Given the description of an element on the screen output the (x, y) to click on. 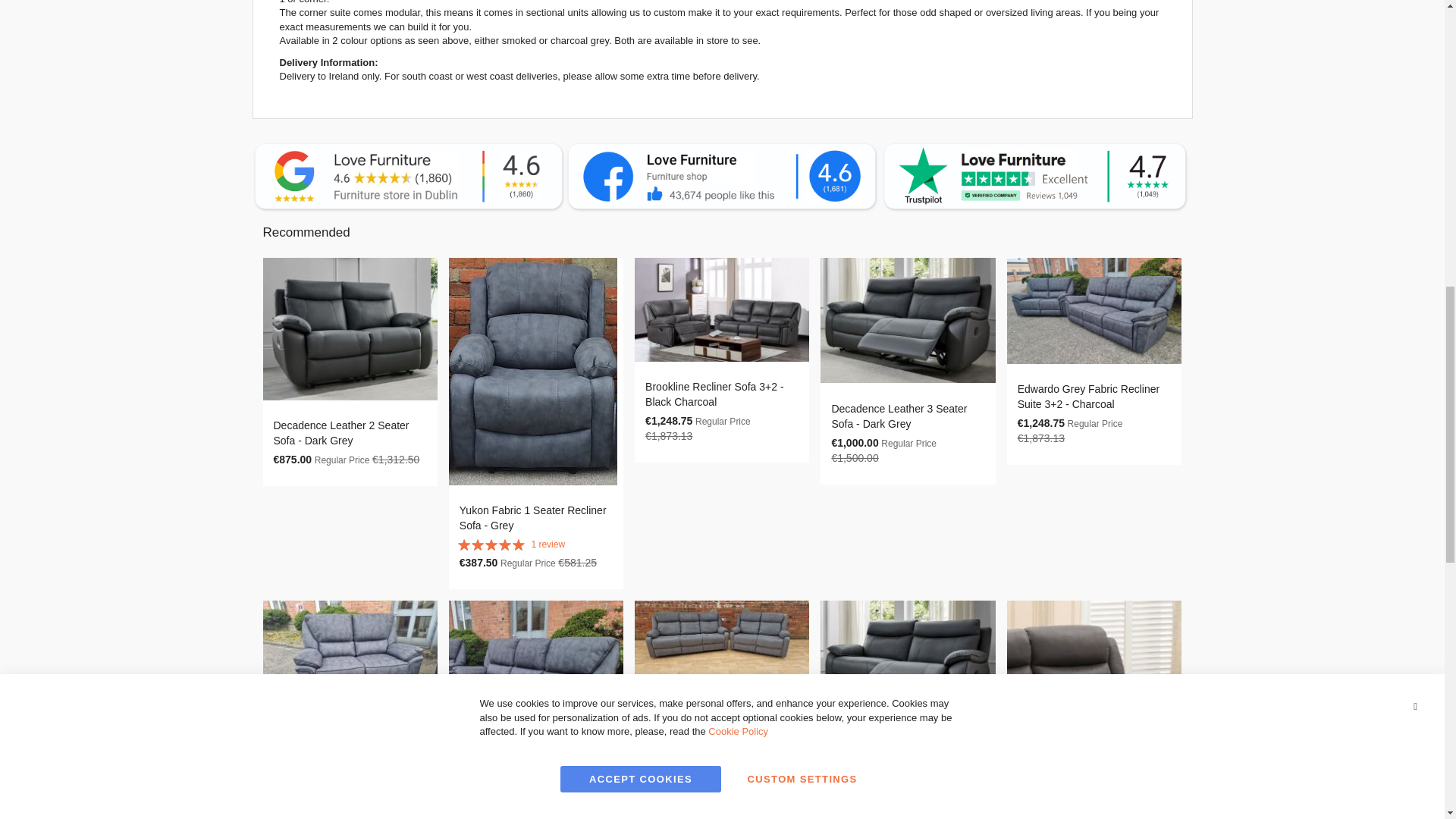
Decadence Leather 2 Seater Sofa - Dark Grey (341, 432)
Yukon Fabric 1 Seater Recliner Sofa - Grey (533, 517)
